Given the description of an element on the screen output the (x, y) to click on. 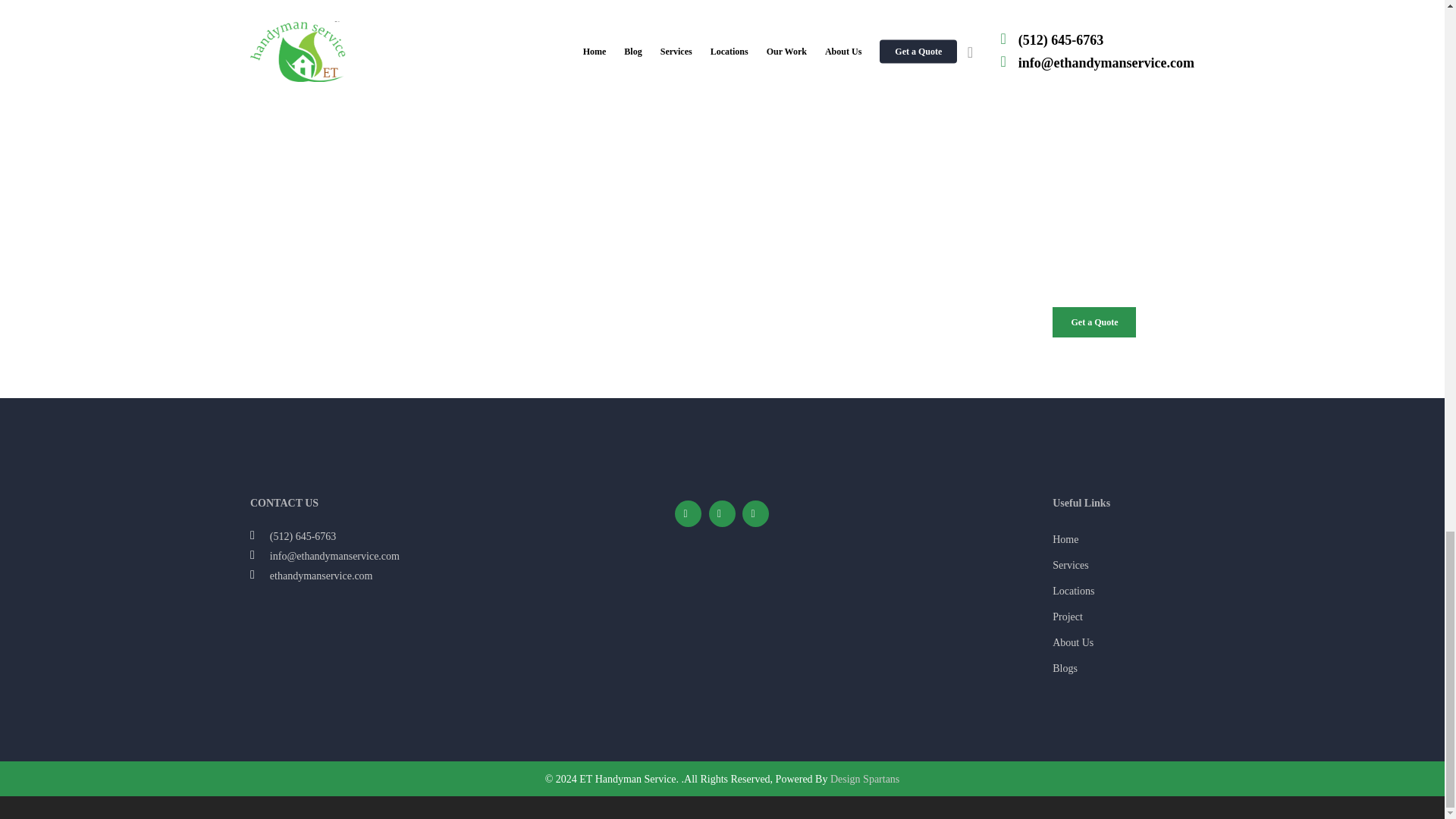
Get a Quote (1093, 322)
